Given the description of an element on the screen output the (x, y) to click on. 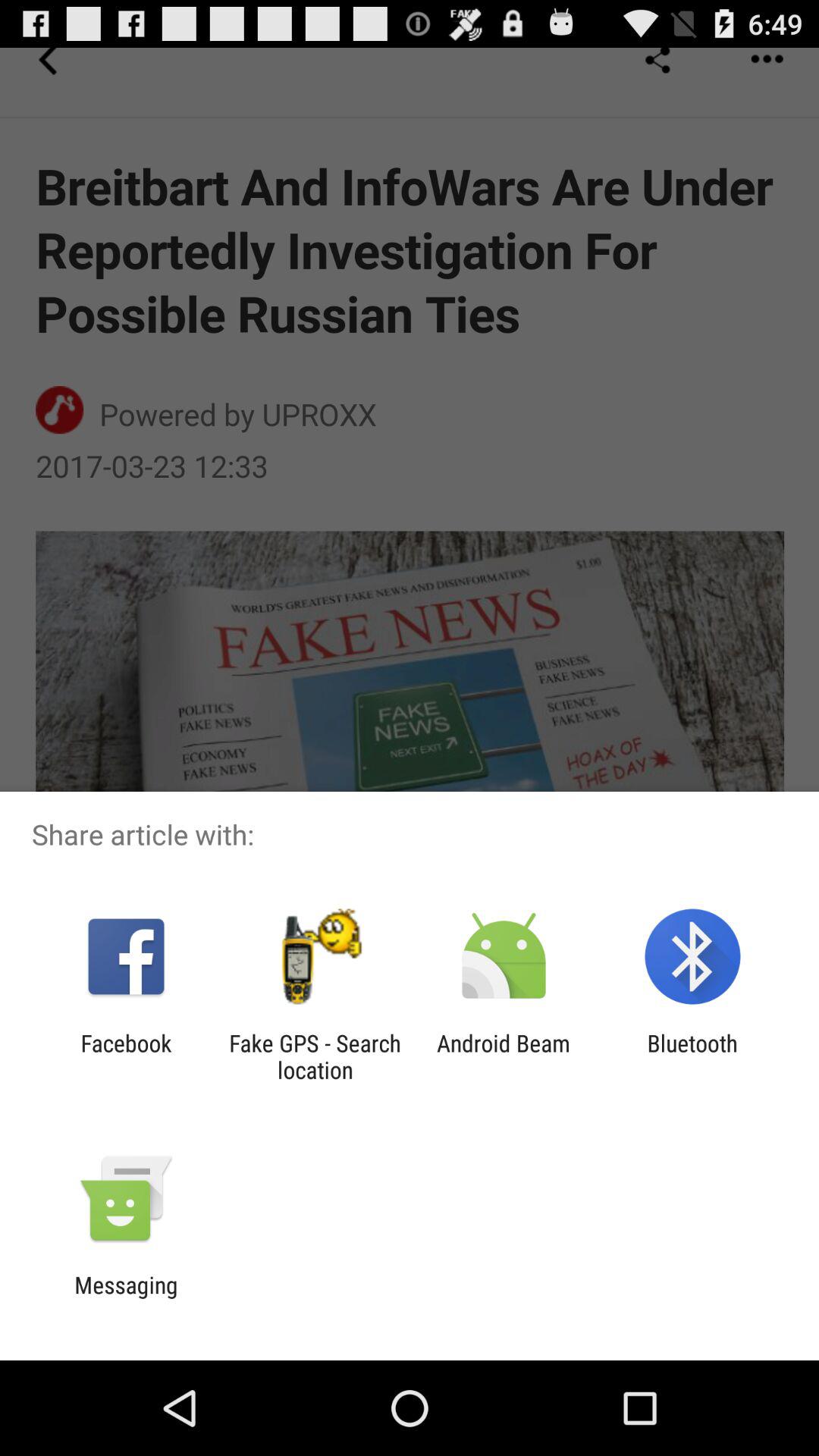
scroll until the messaging item (126, 1298)
